Given the description of an element on the screen output the (x, y) to click on. 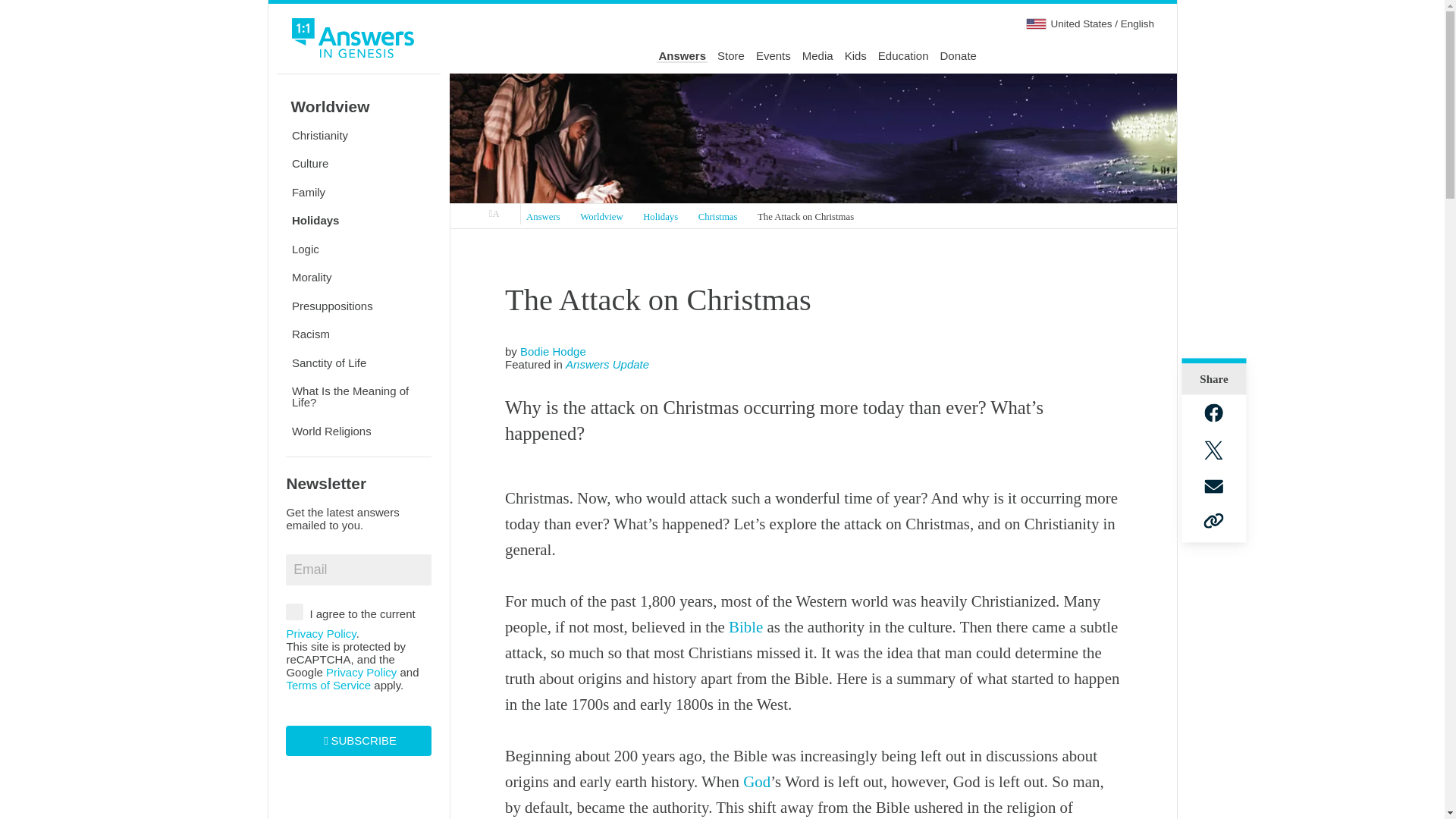
Store (731, 55)
Answers in Genesis (494, 214)
Answers (681, 55)
Store (731, 55)
The Attack on Christmas (806, 217)
Answers Update (607, 364)
Holidays (659, 217)
Worldview (602, 217)
Media (817, 55)
Bible (745, 627)
Events (772, 55)
Answers (543, 217)
Bodie Hodge (552, 350)
Christmas (717, 217)
God (756, 782)
